Given the description of an element on the screen output the (x, y) to click on. 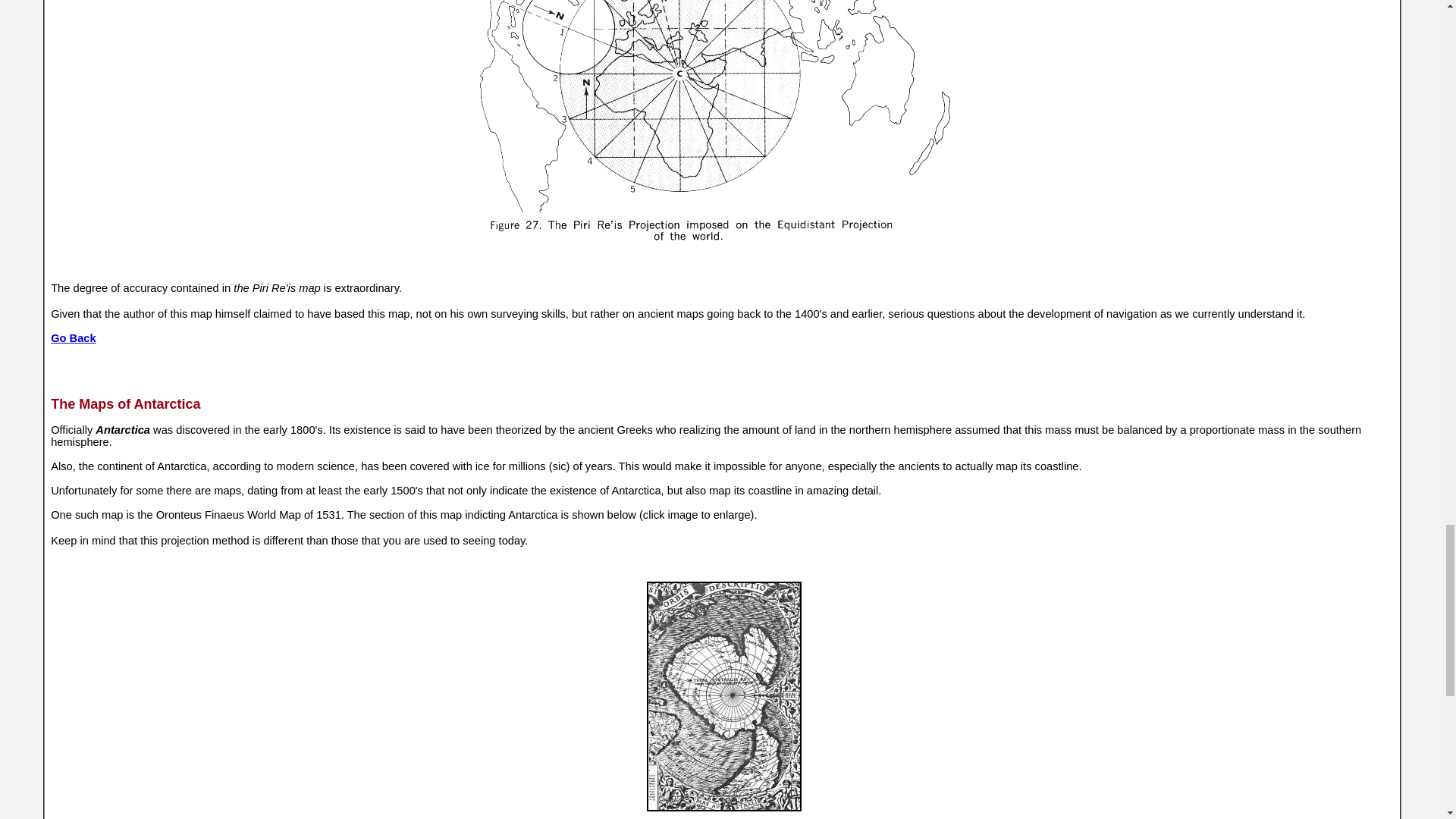
Go Back (73, 337)
